Given the description of an element on the screen output the (x, y) to click on. 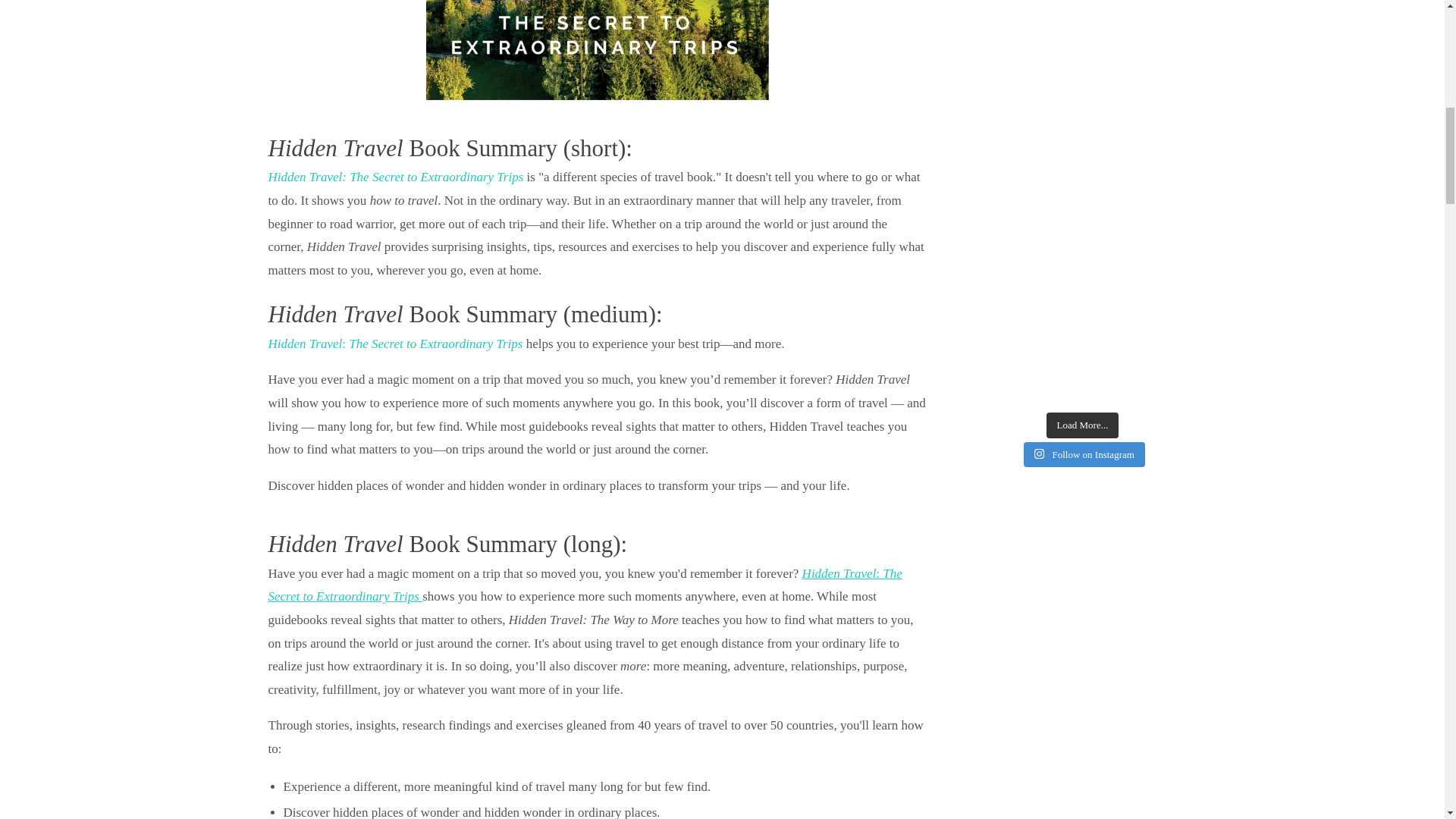
Hidden Travel: The Secret to Extraordinary Trips  (584, 585)
HT Cover Final - front cover (597, 49)
Hidden Travel: The Secret to Extraordinary Trips (394, 343)
Hidden Travel: The Secret to Extraordinary Trips (397, 176)
